Given the description of an element on the screen output the (x, y) to click on. 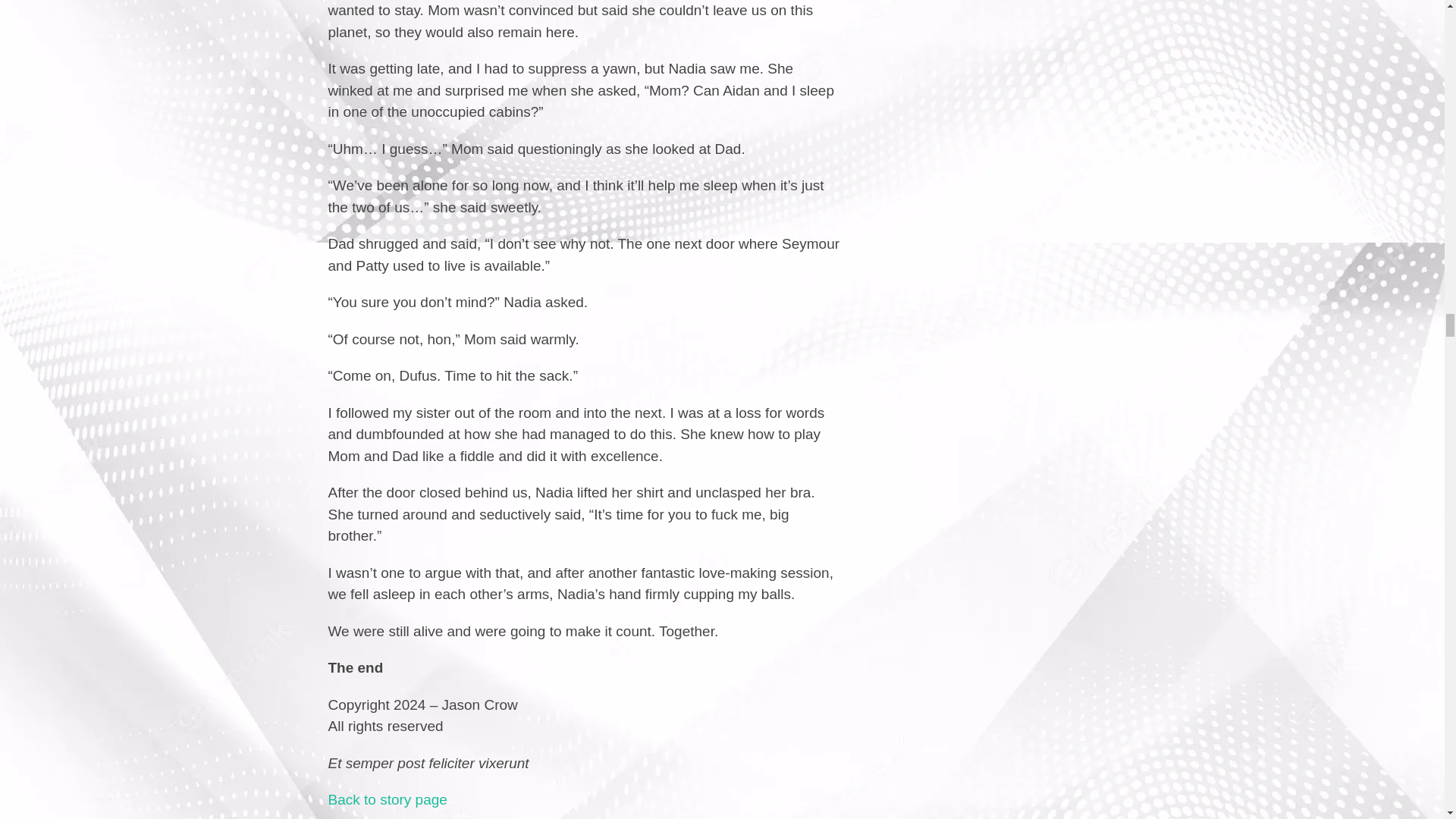
Aetheria (386, 799)
